Given the description of an element on the screen output the (x, y) to click on. 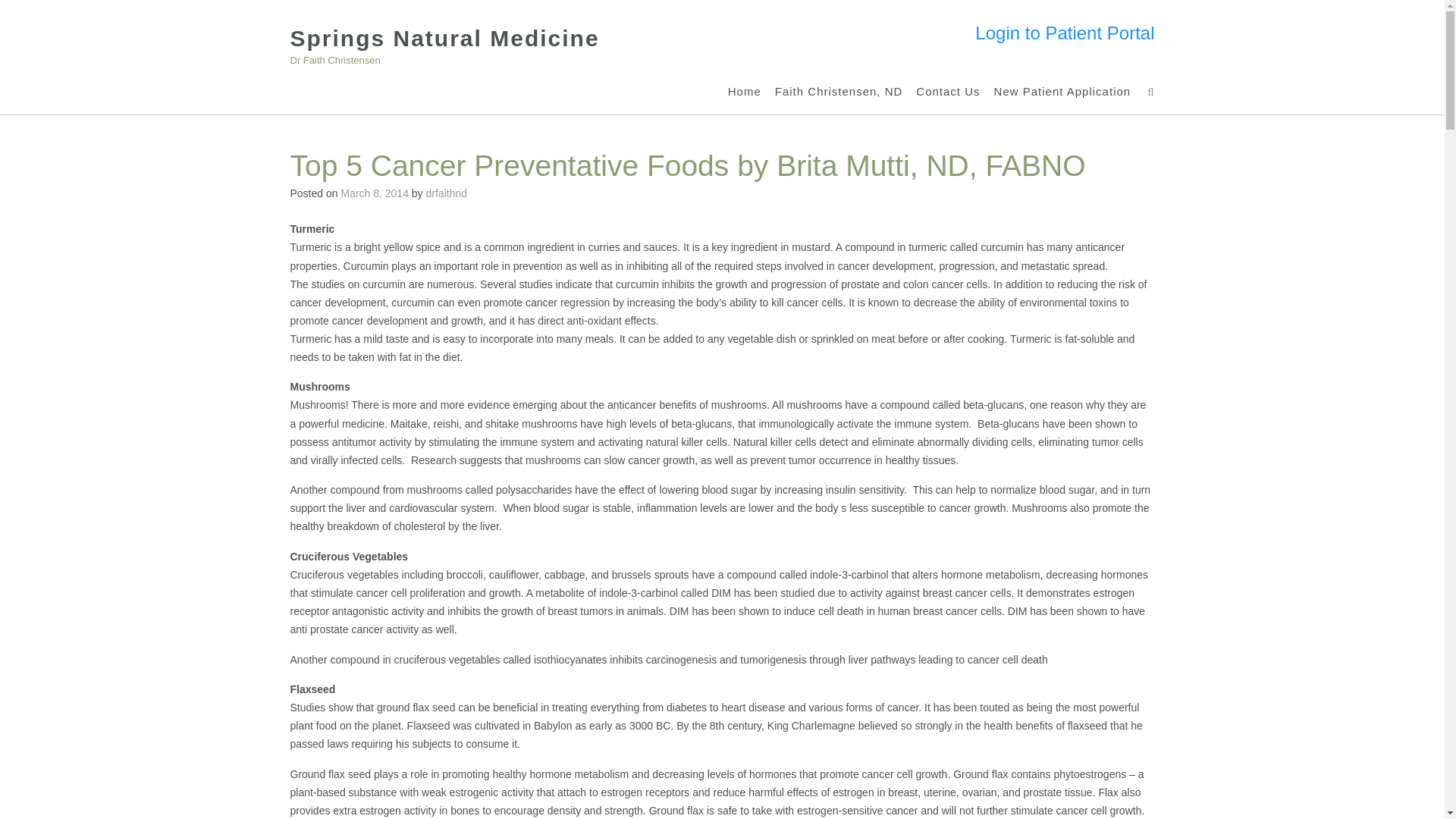
New Patient Application (1062, 91)
Contact Us (947, 91)
March 8, 2014 (374, 193)
drfaithnd (446, 193)
Login to Patient Portal (1064, 32)
Springs Natural Medicine (443, 38)
Home (744, 91)
Faith Christensen, ND (838, 91)
